Given the description of an element on the screen output the (x, y) to click on. 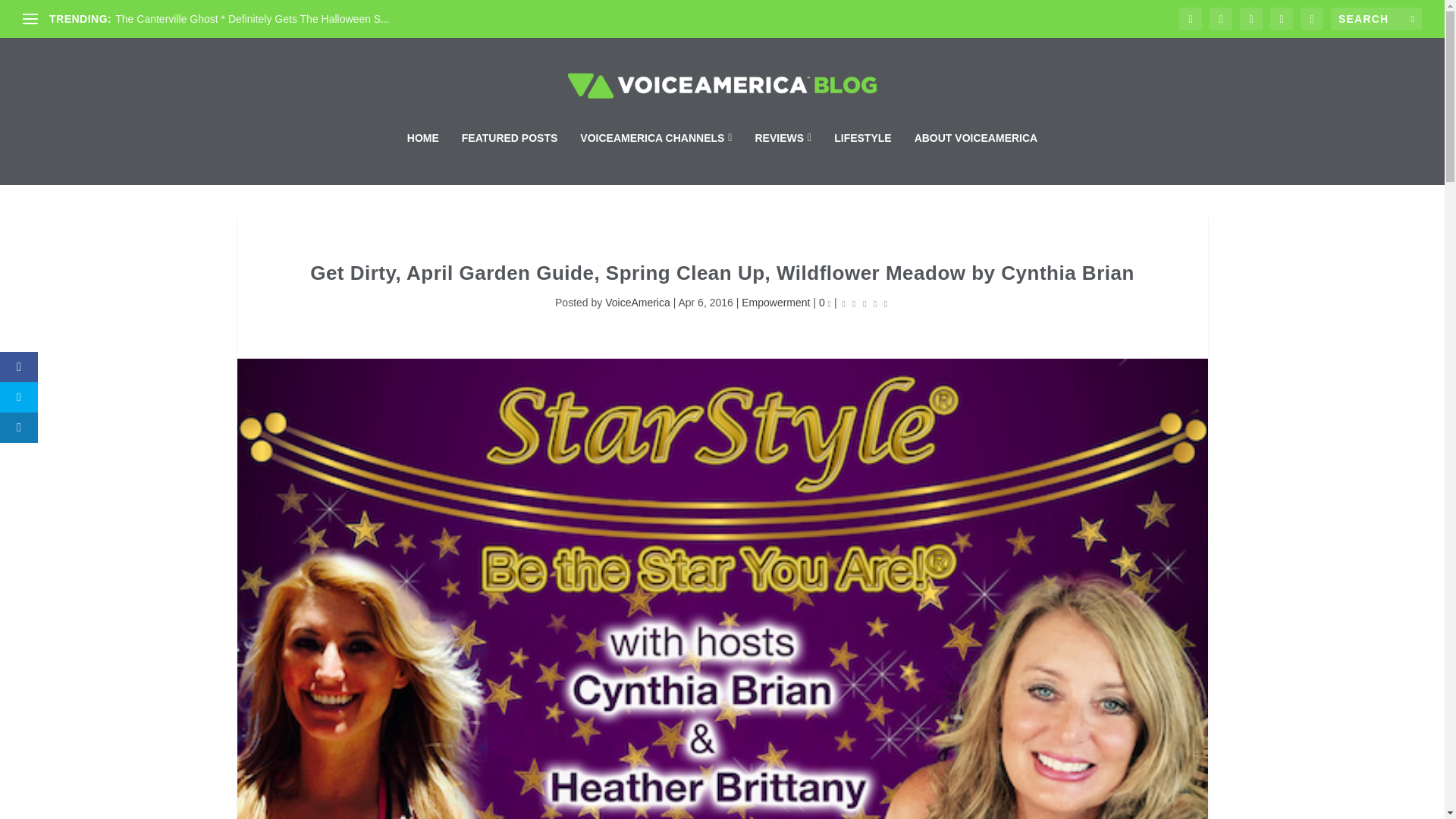
Posts by VoiceAmerica (637, 302)
Rating: 0.00 (864, 303)
Search for: (1376, 18)
